Given the description of an element on the screen output the (x, y) to click on. 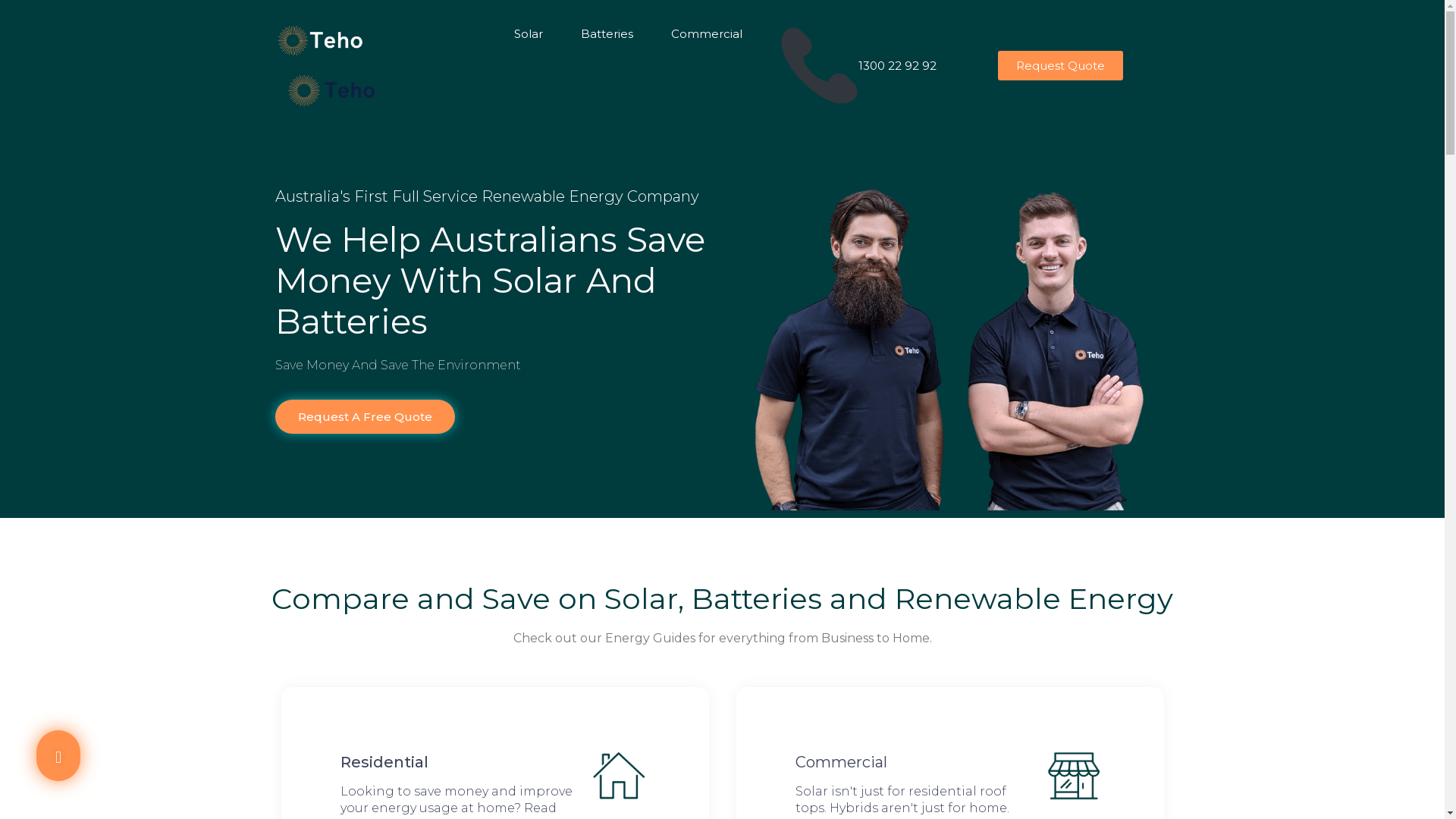
Batteries Element type: text (606, 34)
Commercial Element type: text (706, 34)
Request A Free Quote Element type: text (364, 416)
Request Quote Element type: text (1060, 65)
1300 22 92 92 Element type: text (819, 65)
Solar Element type: text (528, 34)
